Given the description of an element on the screen output the (x, y) to click on. 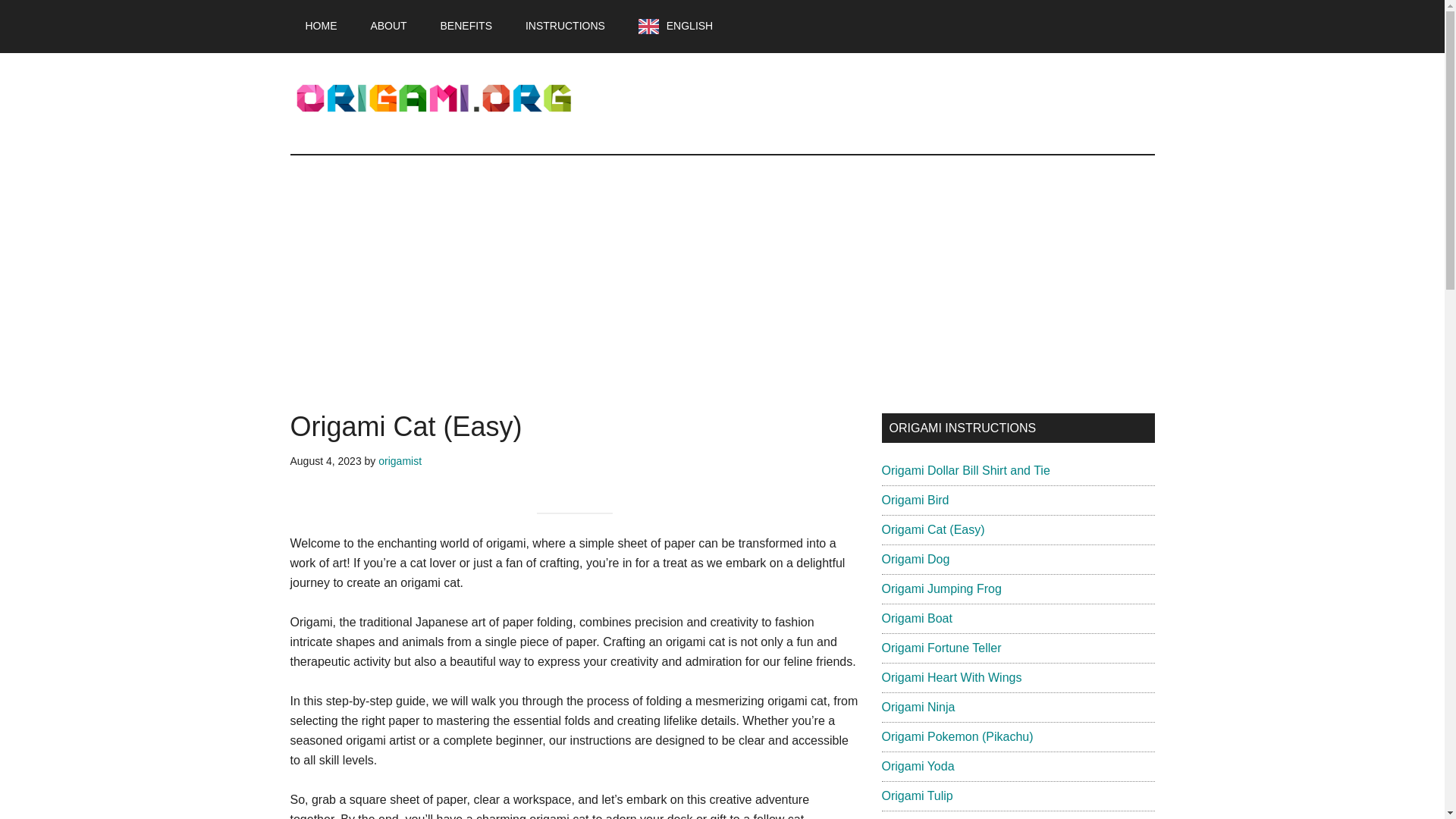
BENEFITS (465, 25)
HOME (320, 25)
English (675, 26)
ABOUT (388, 25)
INSTRUCTIONS (565, 25)
